Given the description of an element on the screen output the (x, y) to click on. 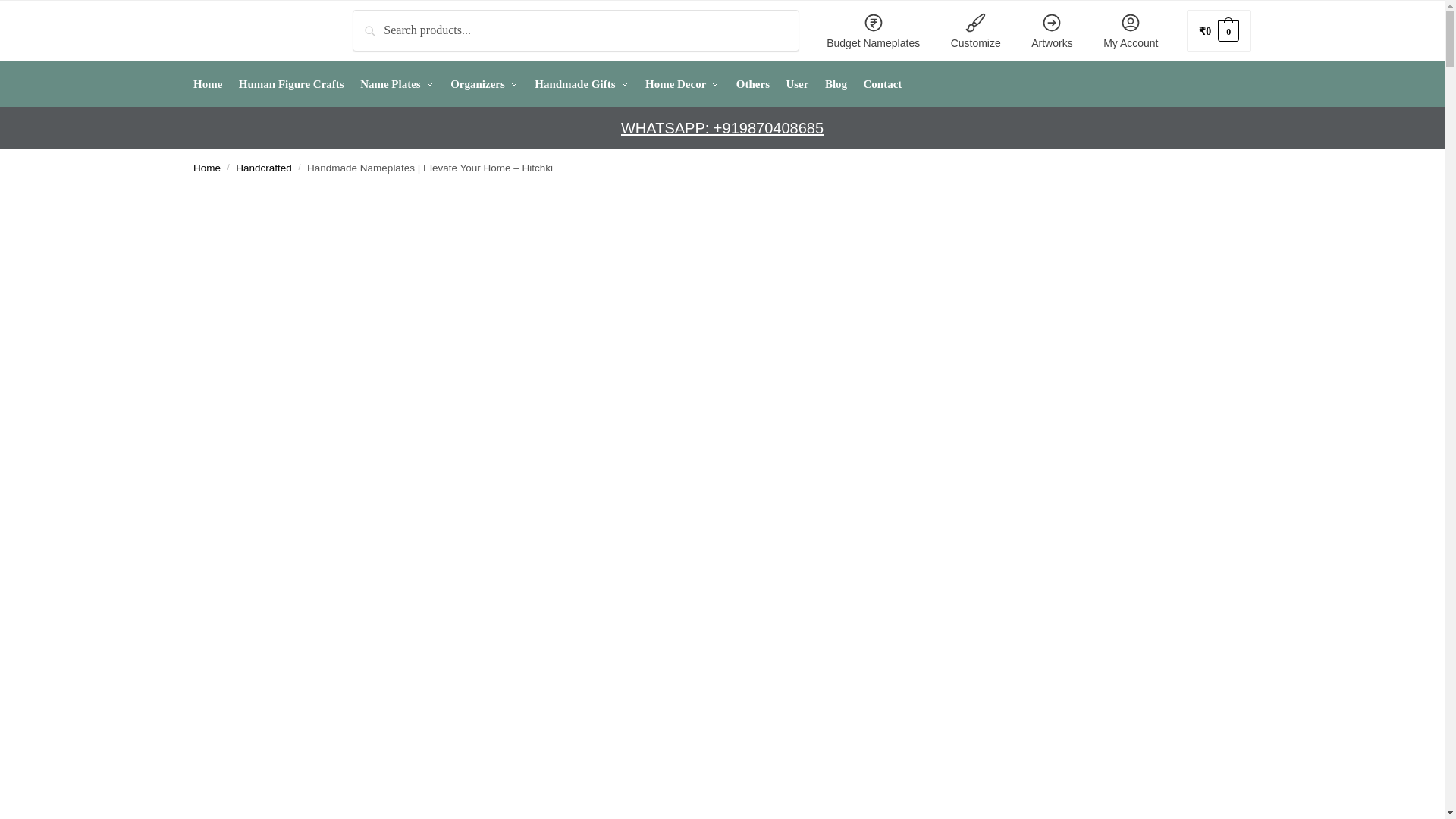
Name Plates (397, 84)
Search (373, 20)
My Account (1130, 30)
Handmade Gifts (581, 84)
Customize (975, 30)
Organizers (484, 84)
View your shopping cart (1218, 30)
Human Figure Crafts (291, 84)
Budget Nameplates (872, 30)
Artworks (1051, 30)
